Given the description of an element on the screen output the (x, y) to click on. 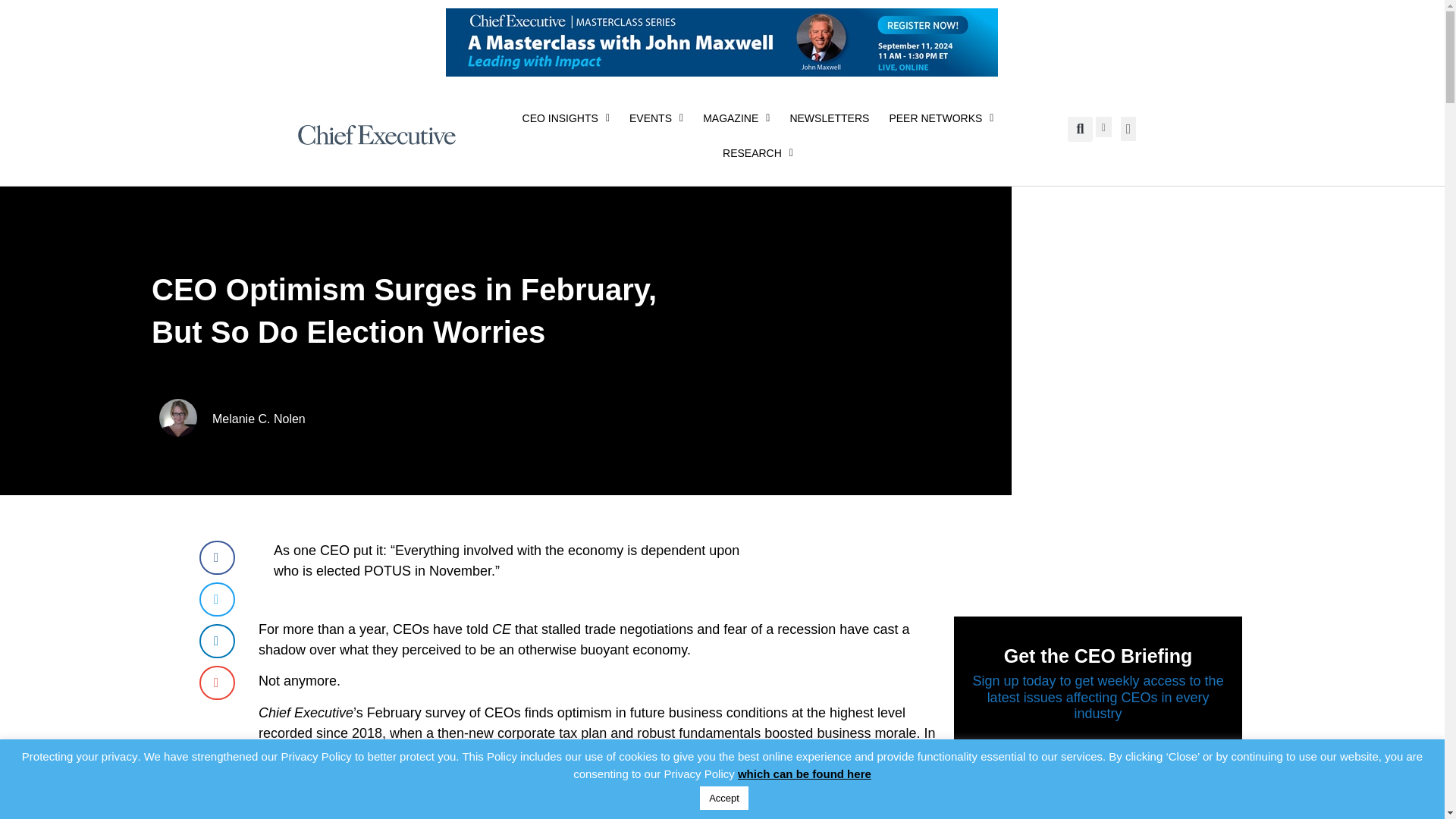
PEER NETWORKS (941, 117)
MAGAZINE (735, 117)
CEO INSIGHTS (566, 117)
NEWSLETTERS (828, 117)
RESEARCH (758, 152)
EVENTS (656, 117)
